Given the description of an element on the screen output the (x, y) to click on. 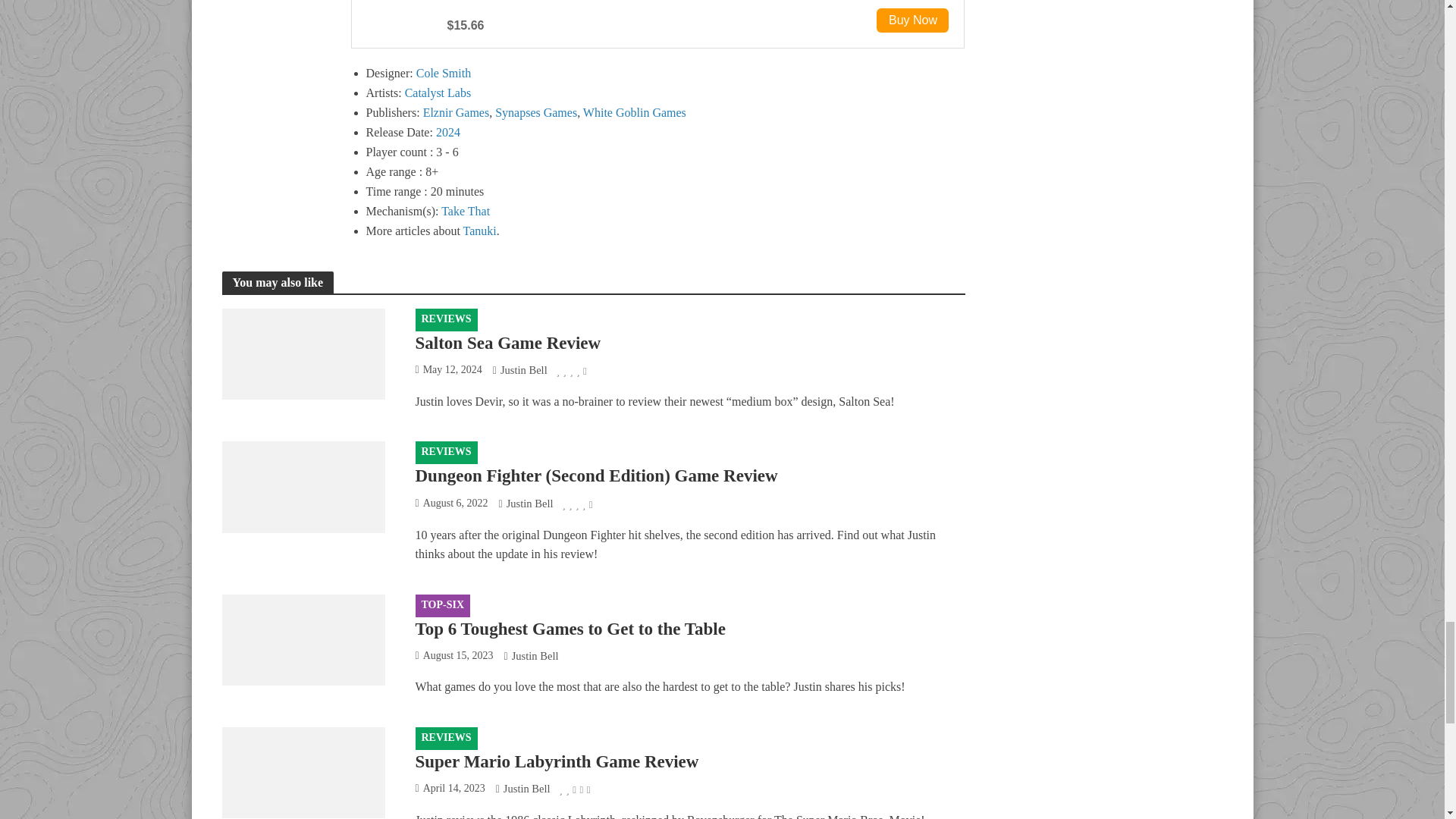
Super Mario Labyrinth Game Review (302, 770)
Salton Sea Game Review (302, 351)
Top 6 Toughest Games to Get to the Table (302, 638)
